Given the description of an element on the screen output the (x, y) to click on. 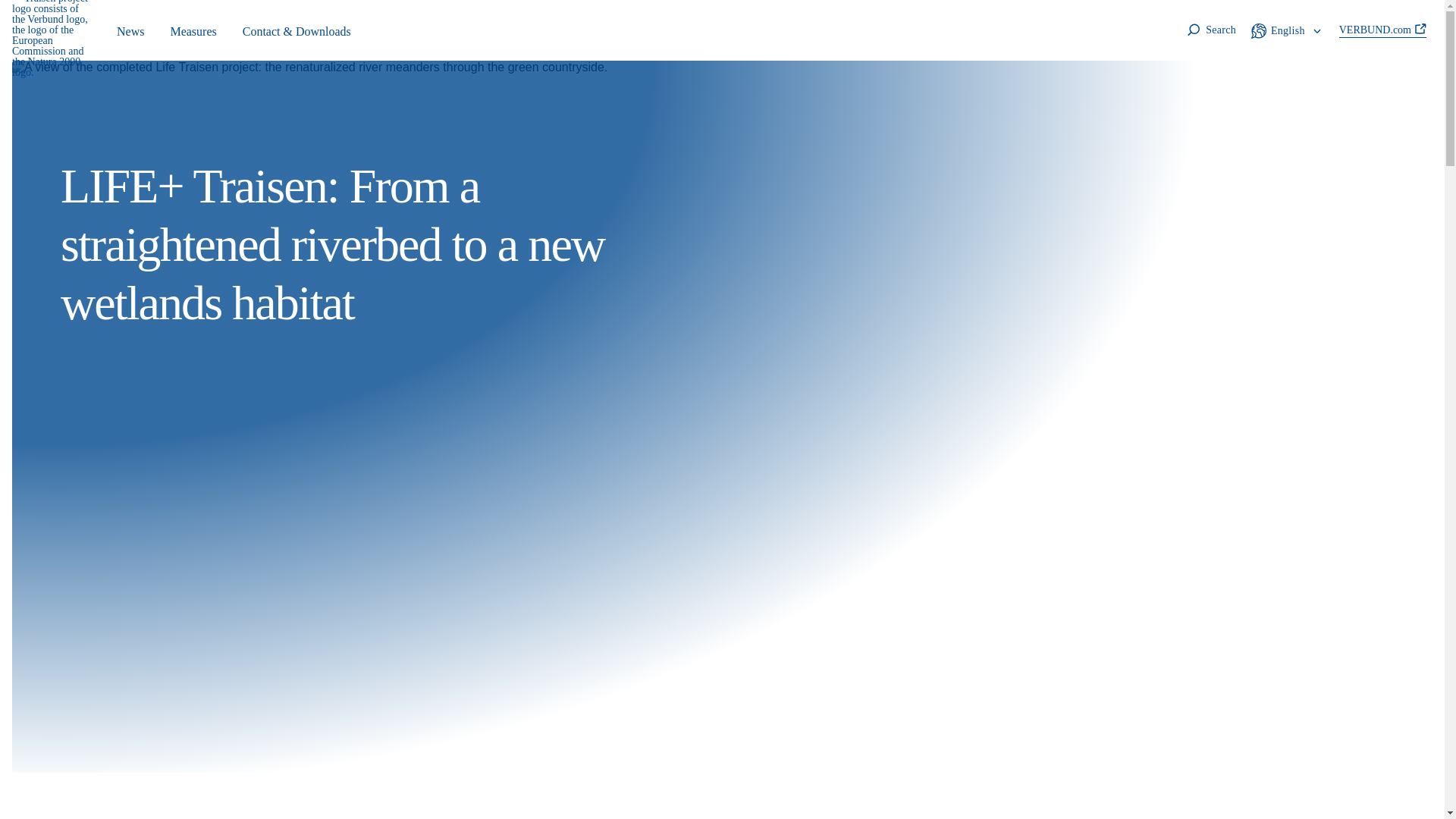
Project Logo Life Traisen (51, 38)
VERBUND.com (1382, 29)
News (129, 30)
English (1287, 30)
Search (1210, 30)
Measures (192, 30)
